Given the description of an element on the screen output the (x, y) to click on. 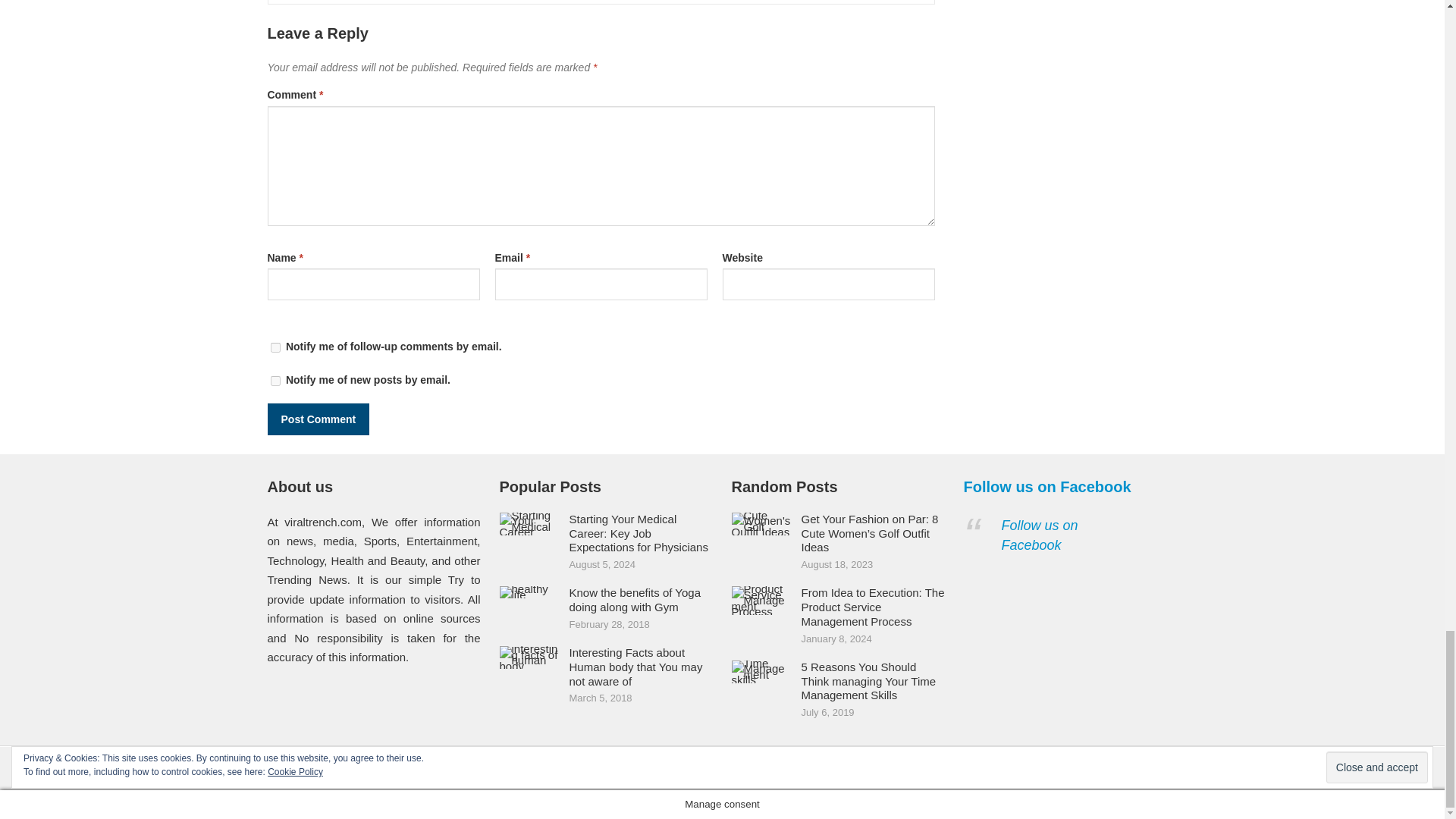
subscribe (274, 380)
Post Comment (317, 418)
subscribe (274, 347)
